Given the description of an element on the screen output the (x, y) to click on. 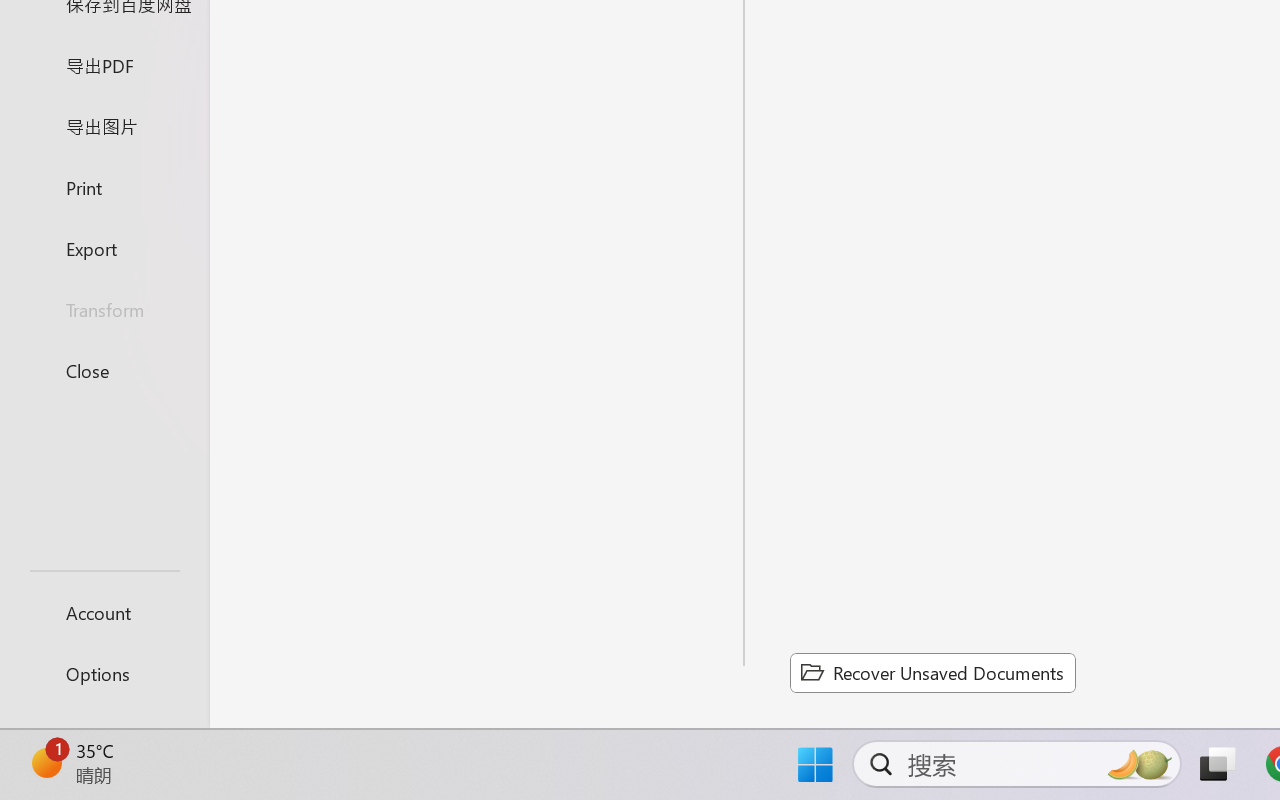
Account (104, 612)
Print (104, 186)
Export (104, 248)
Transform (104, 309)
Options (104, 673)
Recover Unsaved Documents (932, 672)
